Given the description of an element on the screen output the (x, y) to click on. 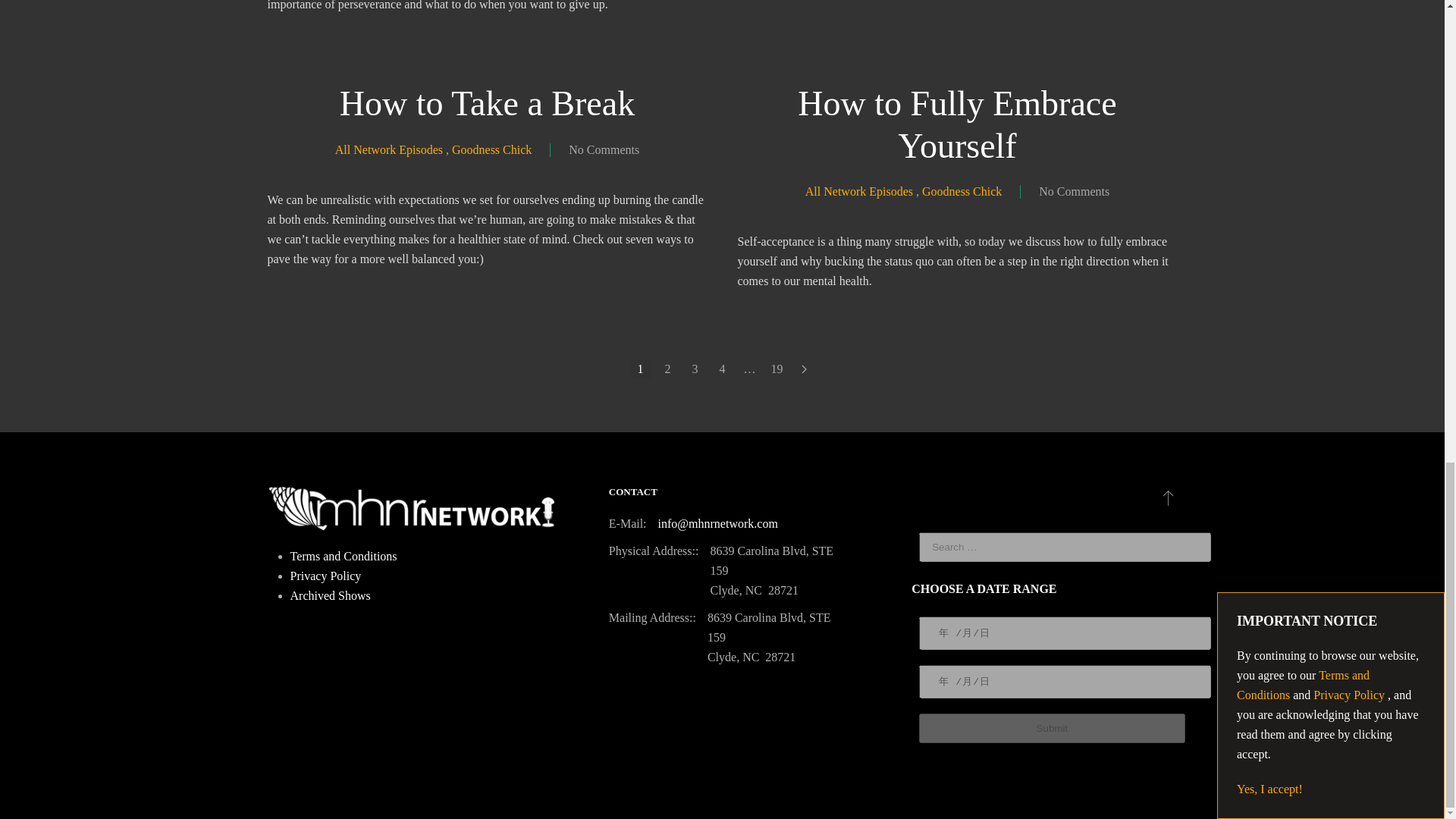
Submit (1051, 727)
